Given the description of an element on the screen output the (x, y) to click on. 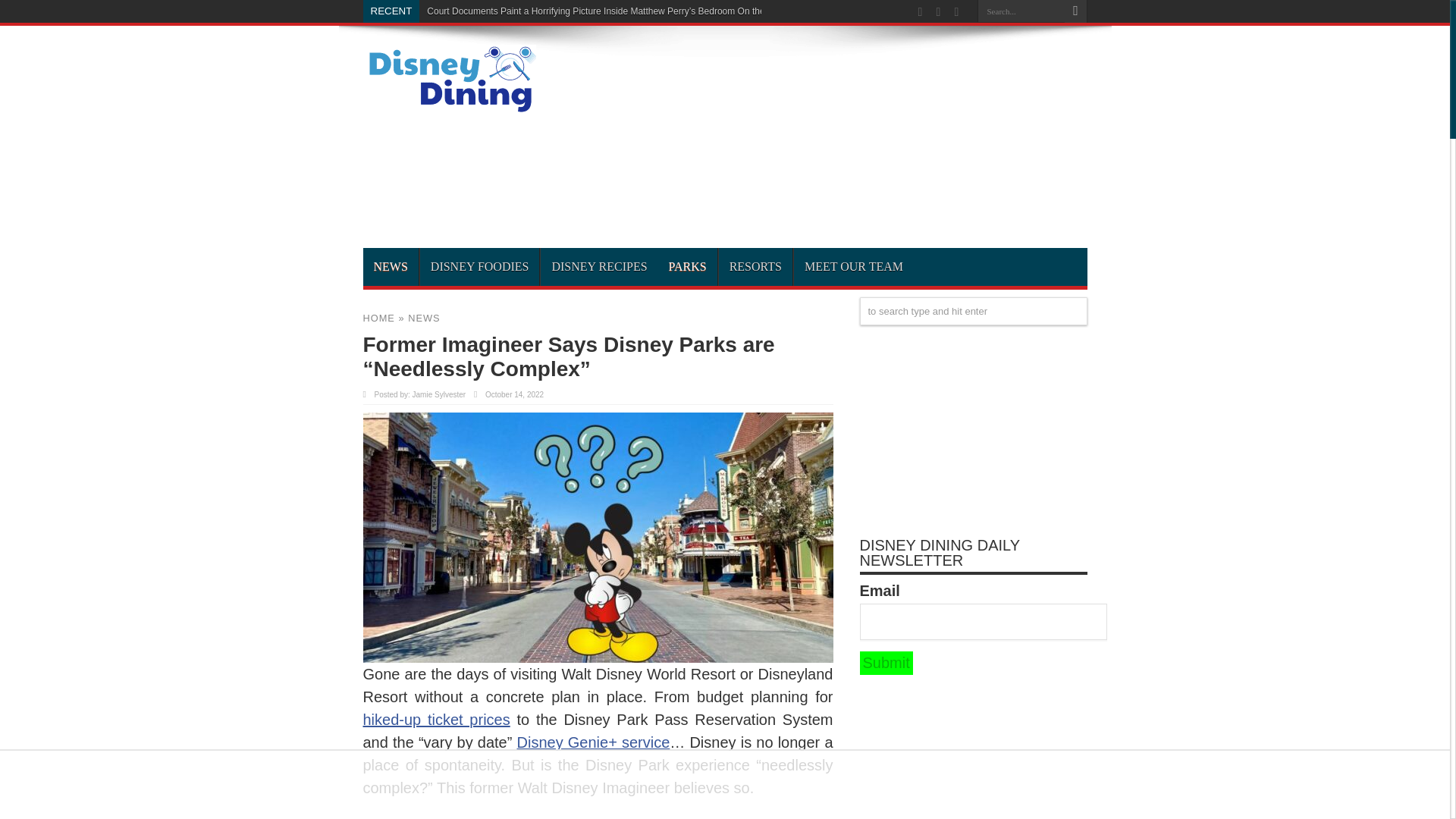
PARKS (687, 266)
Search... (1020, 11)
RESORTS (754, 266)
Disney Dining (448, 107)
Search (1075, 11)
hiked-up ticket prices (435, 719)
MEET OUR TEAM (853, 266)
DISNEY RECIPES (599, 266)
DISNEY FOODIES (479, 266)
to search type and hit enter (973, 311)
